Given the description of an element on the screen output the (x, y) to click on. 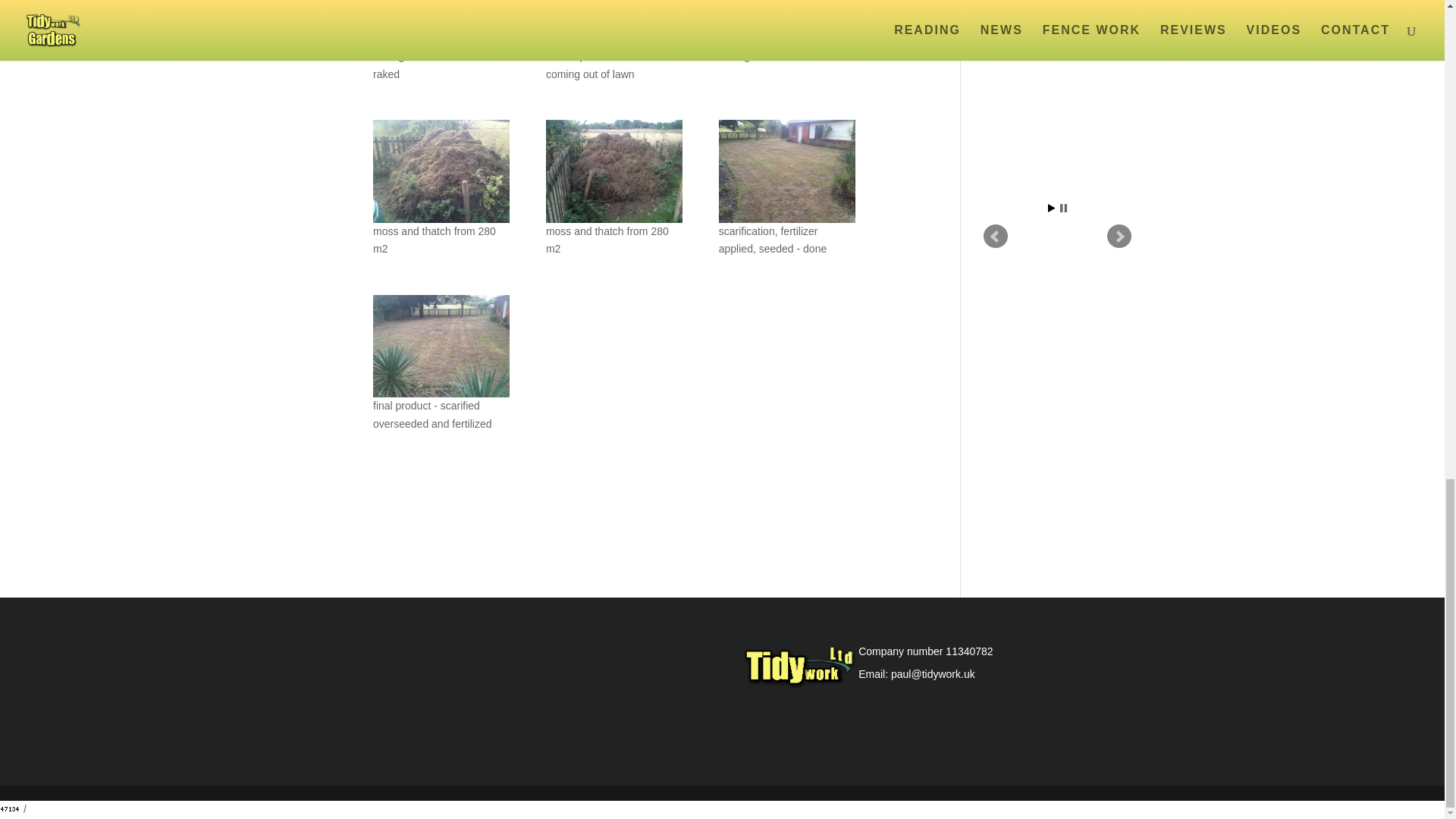
Lawn restoration - scarification (614, 23)
lawn scarification (440, 23)
Lawn restoration - scarification (787, 23)
Moss and thatch removed after lawn scarification (614, 170)
Moss and thatch removed after lawn scarification (440, 170)
